Given the description of an element on the screen output the (x, y) to click on. 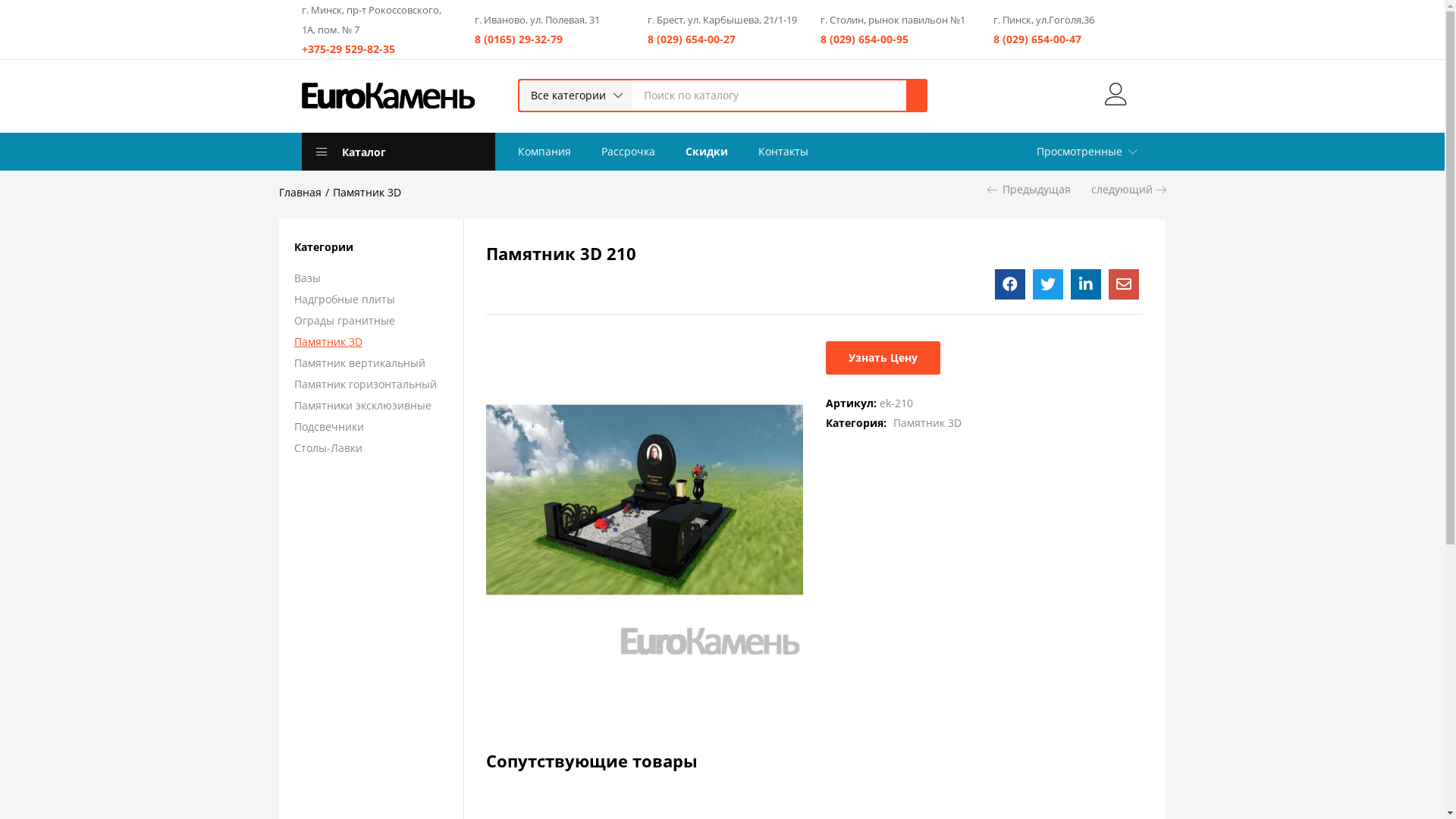
ek_pamyatnik-3d_210_67 Element type: hover (644, 499)
%D0%9F%D0%B0%D0%BC%D1%8F%D1%82%D0%BD%D0%B8%D0%BA+3D+210 Element type: hover (1085, 284)
%D0%9F%D0%B0%D0%BC%D1%8F%D1%82%D0%BD%D0%B8%D0%BA+3D+210 Element type: hover (1047, 284)
